Given the description of an element on the screen output the (x, y) to click on. 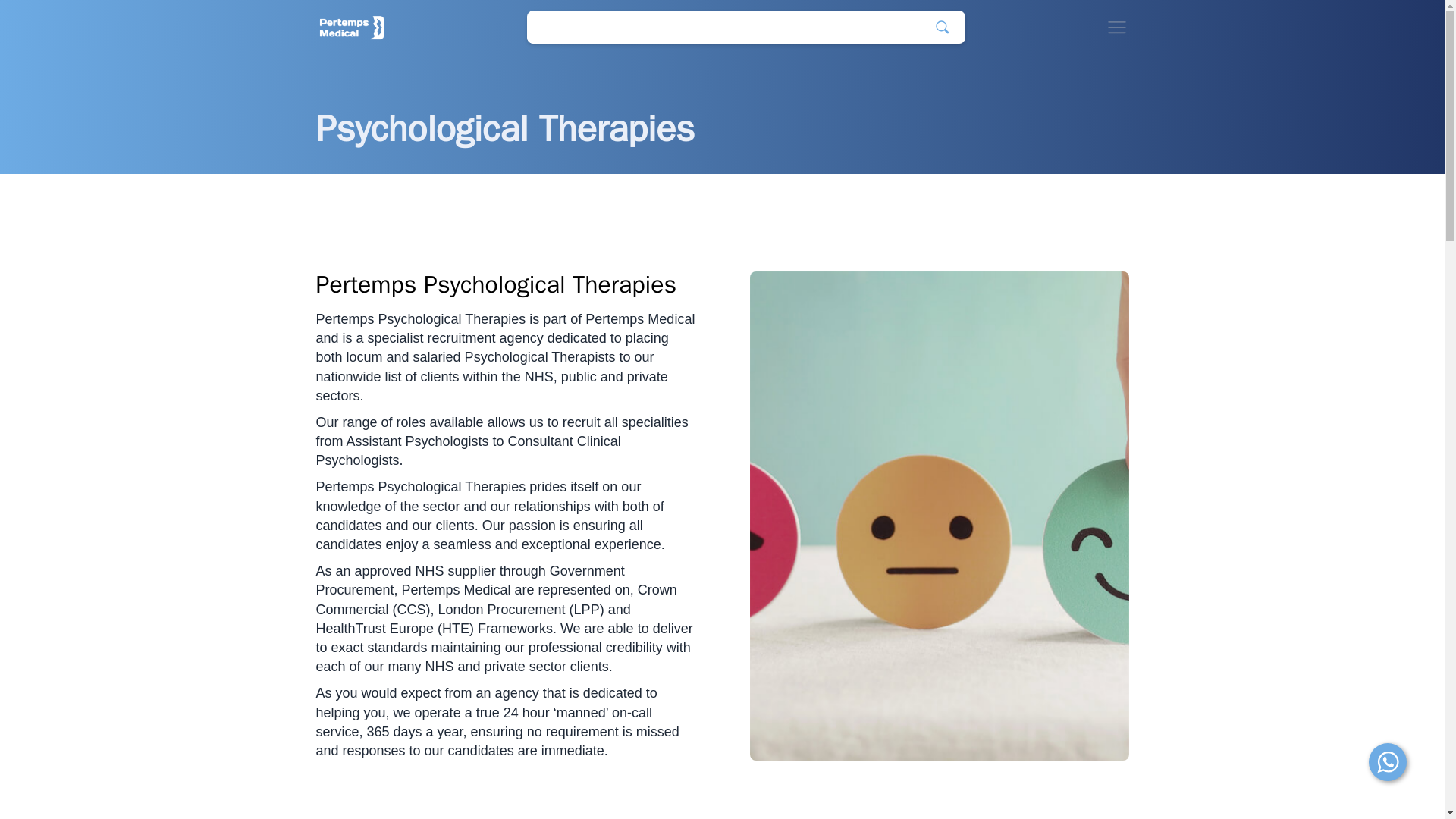
Go to Job Search (746, 27)
Home (351, 27)
Open Navigation (1115, 27)
